Given the description of an element on the screen output the (x, y) to click on. 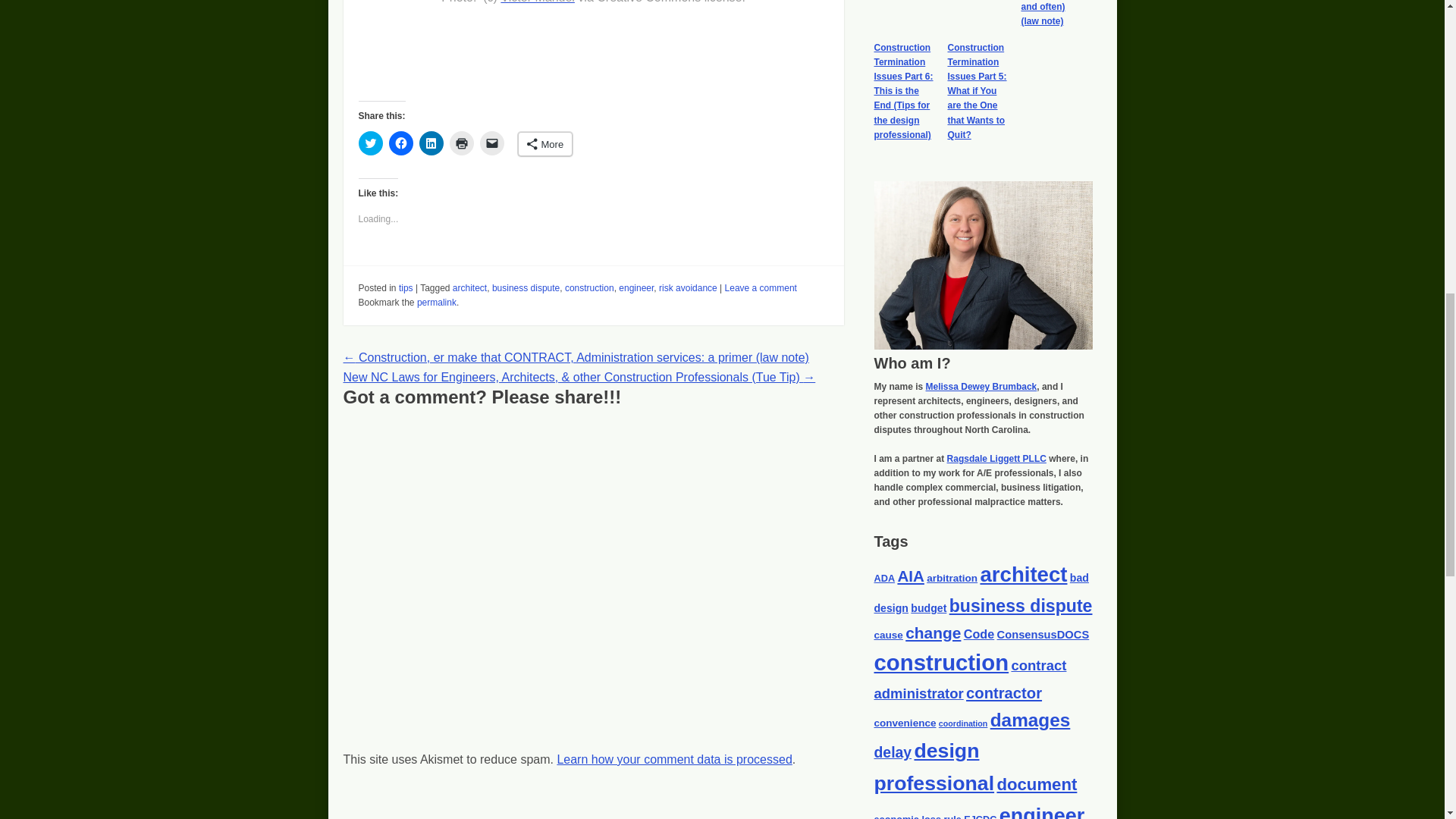
Click to print (460, 143)
construction (589, 287)
Learn how your comment data is processed (674, 758)
Click to share on Twitter (369, 143)
tips (405, 287)
More (544, 143)
business dispute (525, 287)
Click to share on LinkedIn (430, 143)
permalink (436, 302)
architect (469, 287)
engineer (635, 287)
Click to email a link to a friend (491, 143)
Leave a comment (760, 287)
risk avoidance (688, 287)
Victor Manuel (537, 2)
